Given the description of an element on the screen output the (x, y) to click on. 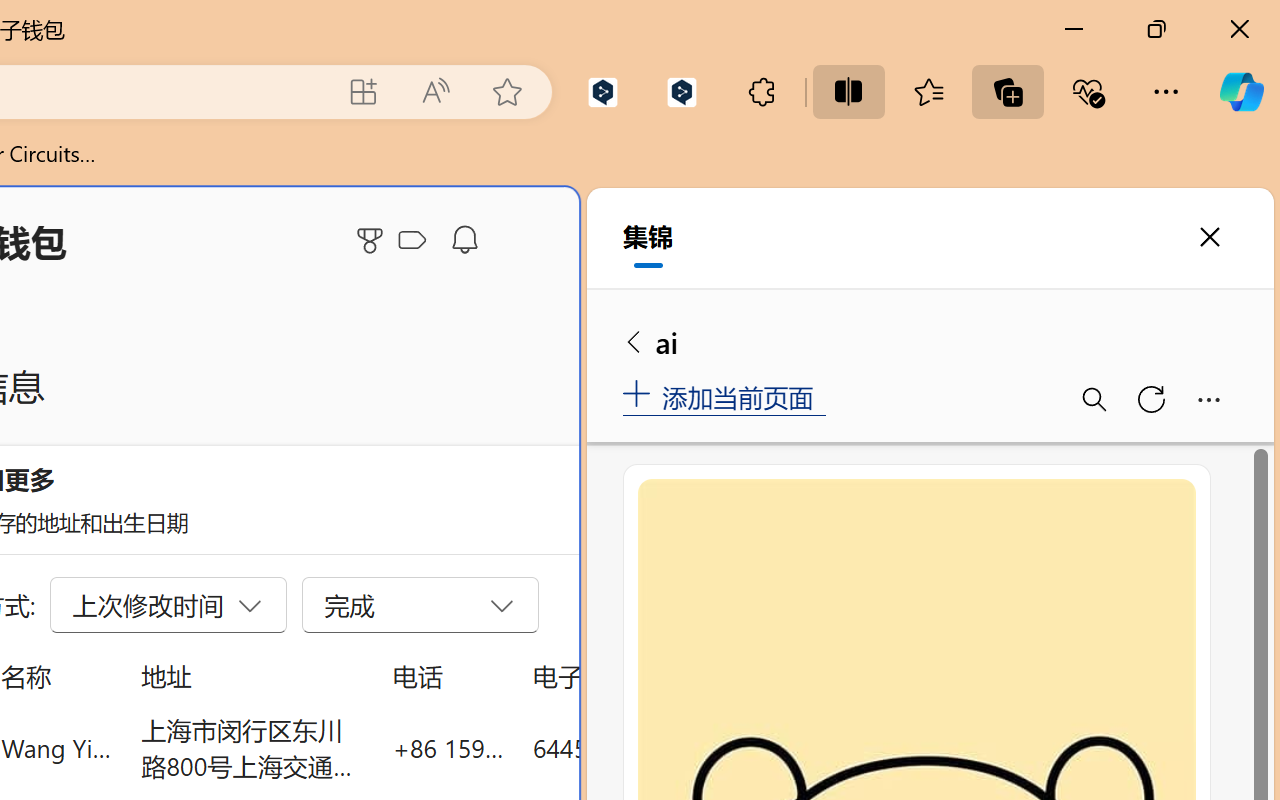
Class: ___1lmltc5 f1agt3bx f12qytpq (411, 241)
+86 159 0032 4640 (447, 747)
